Given the description of an element on the screen output the (x, y) to click on. 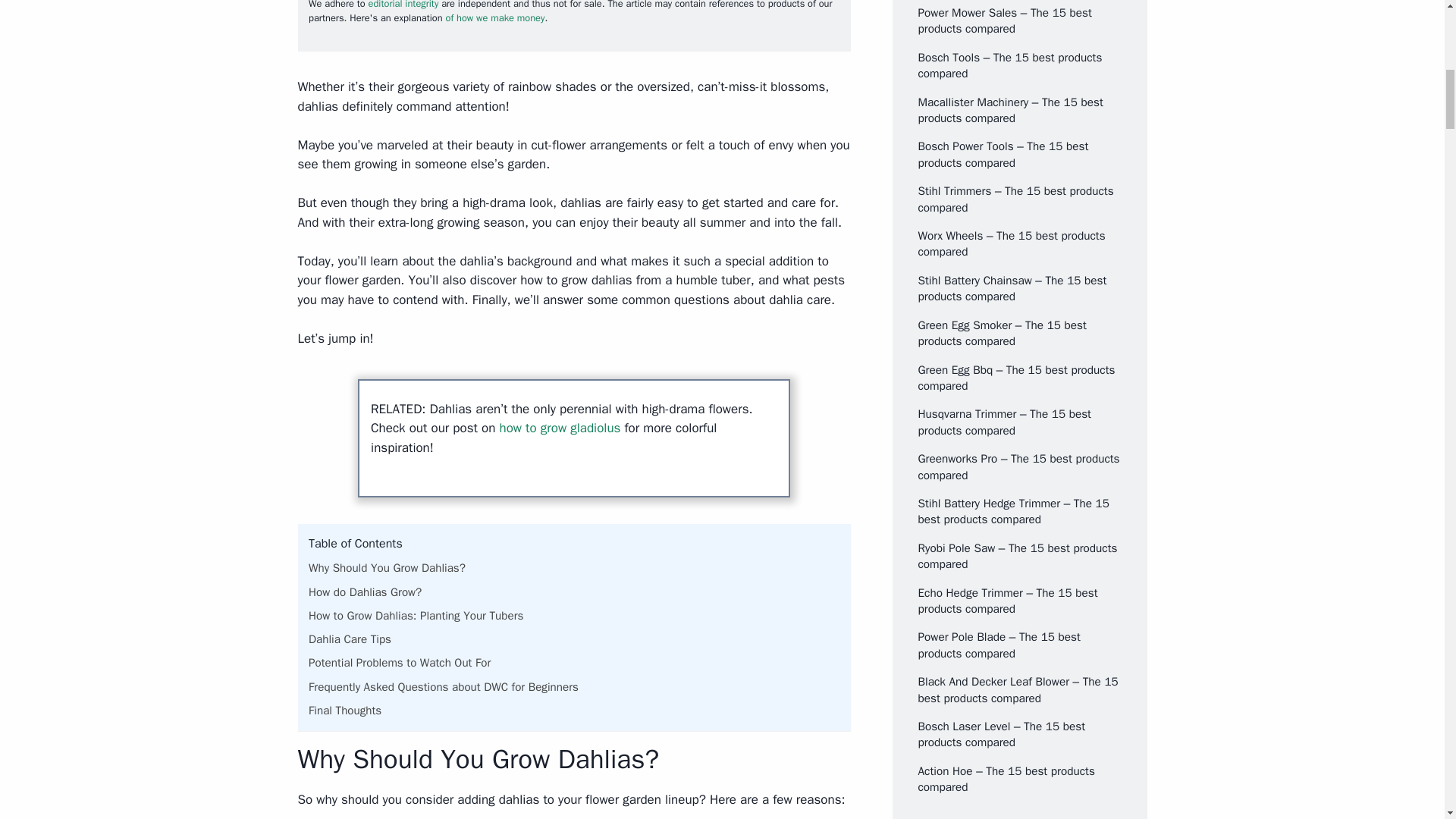
How to Grow Dahlias: Planting Your Tubers (415, 615)
Final Thoughts (344, 710)
Why Should You Grow Dahlias? (386, 567)
Potential Problems to Watch Out For (399, 662)
Dahlia Care Tips (349, 638)
editorial integrity (403, 4)
How do Dahlias Grow? (365, 592)
of how we make money (494, 18)
Frequently Asked Questions about DWC for Beginners (443, 687)
